Given the description of an element on the screen output the (x, y) to click on. 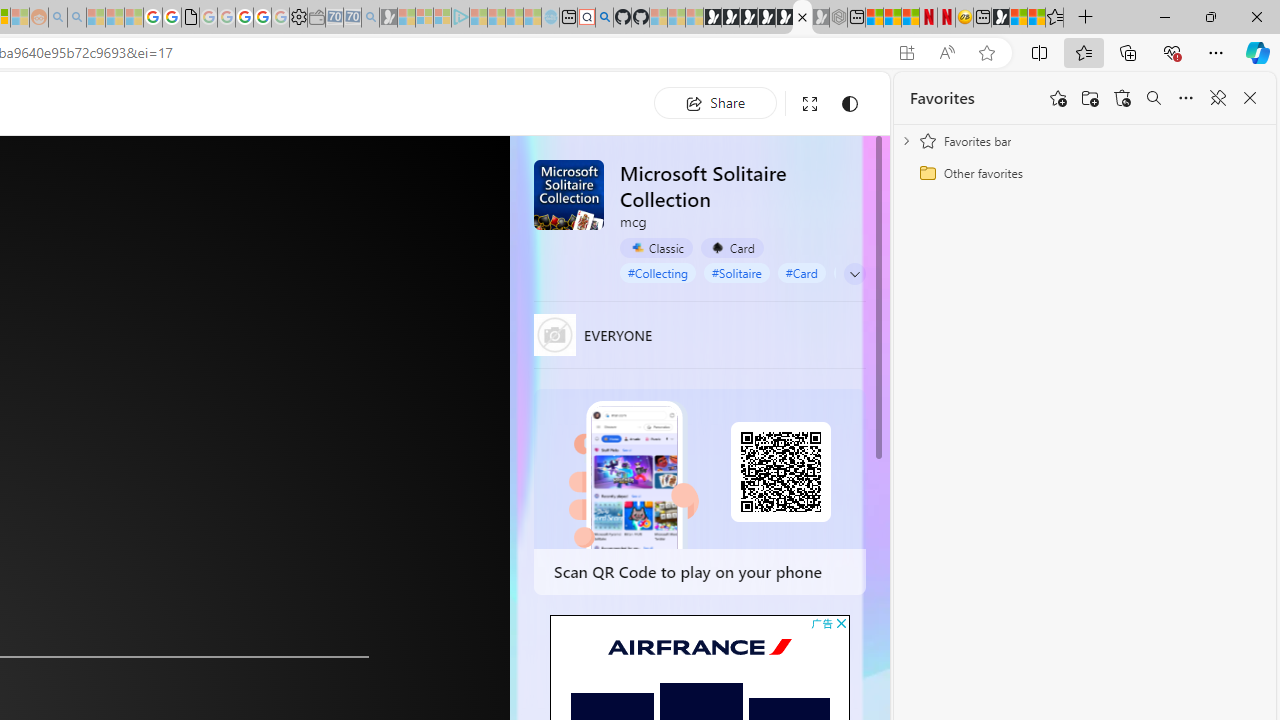
Full screen (810, 103)
Utah sues federal government - Search - Sleeping (76, 17)
#Card (800, 272)
Unpin favorites (1217, 98)
Microsoft Solitaire Collection (568, 194)
Microsoft Start Gaming - Sleeping (388, 17)
Classic (656, 248)
google_privacy_policy_zh-CN.pdf (189, 17)
#Collecting (658, 272)
